Given the description of an element on the screen output the (x, y) to click on. 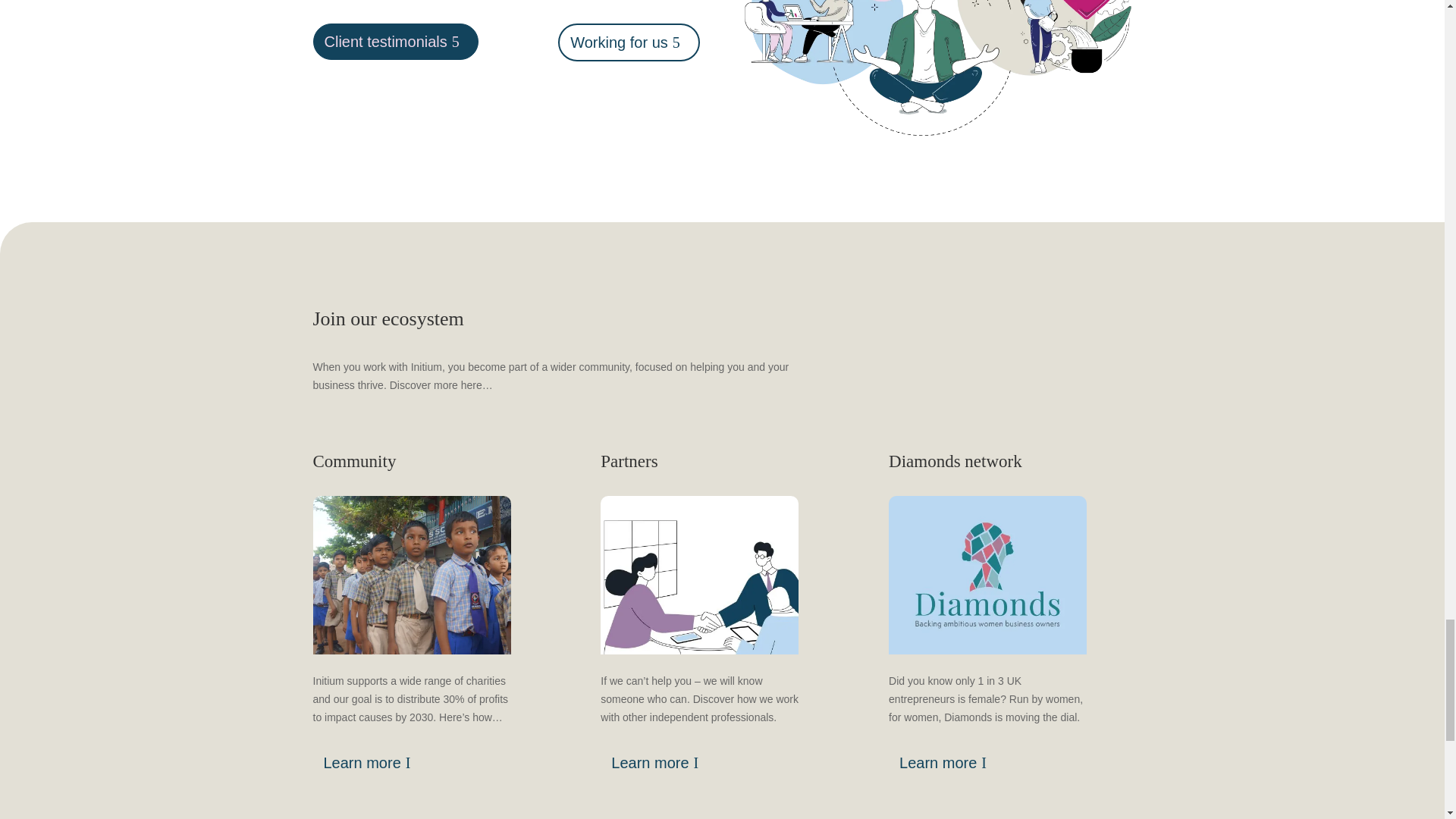
St Mark's School (412, 575)
Diamonds (987, 575)
Partnering with Initium corporate Finance (698, 575)
Impact beyond the deal (937, 67)
